Given the description of an element on the screen output the (x, y) to click on. 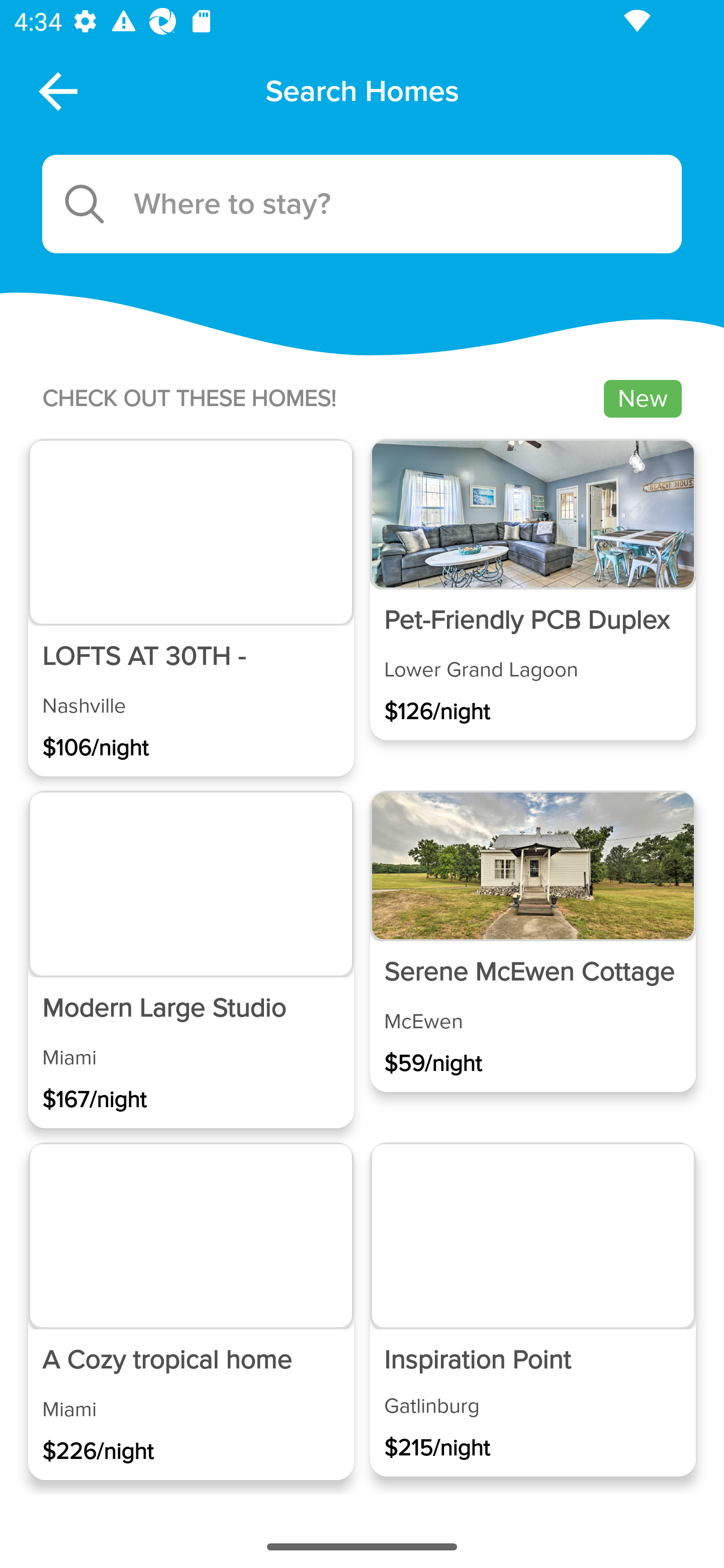
Icon close screen (55, 90)
Search icon Where to stay? (361, 204)
‍Inspiration Point ‍Gatlinburg ‍$215/night (532, 1310)
